Given the description of an element on the screen output the (x, y) to click on. 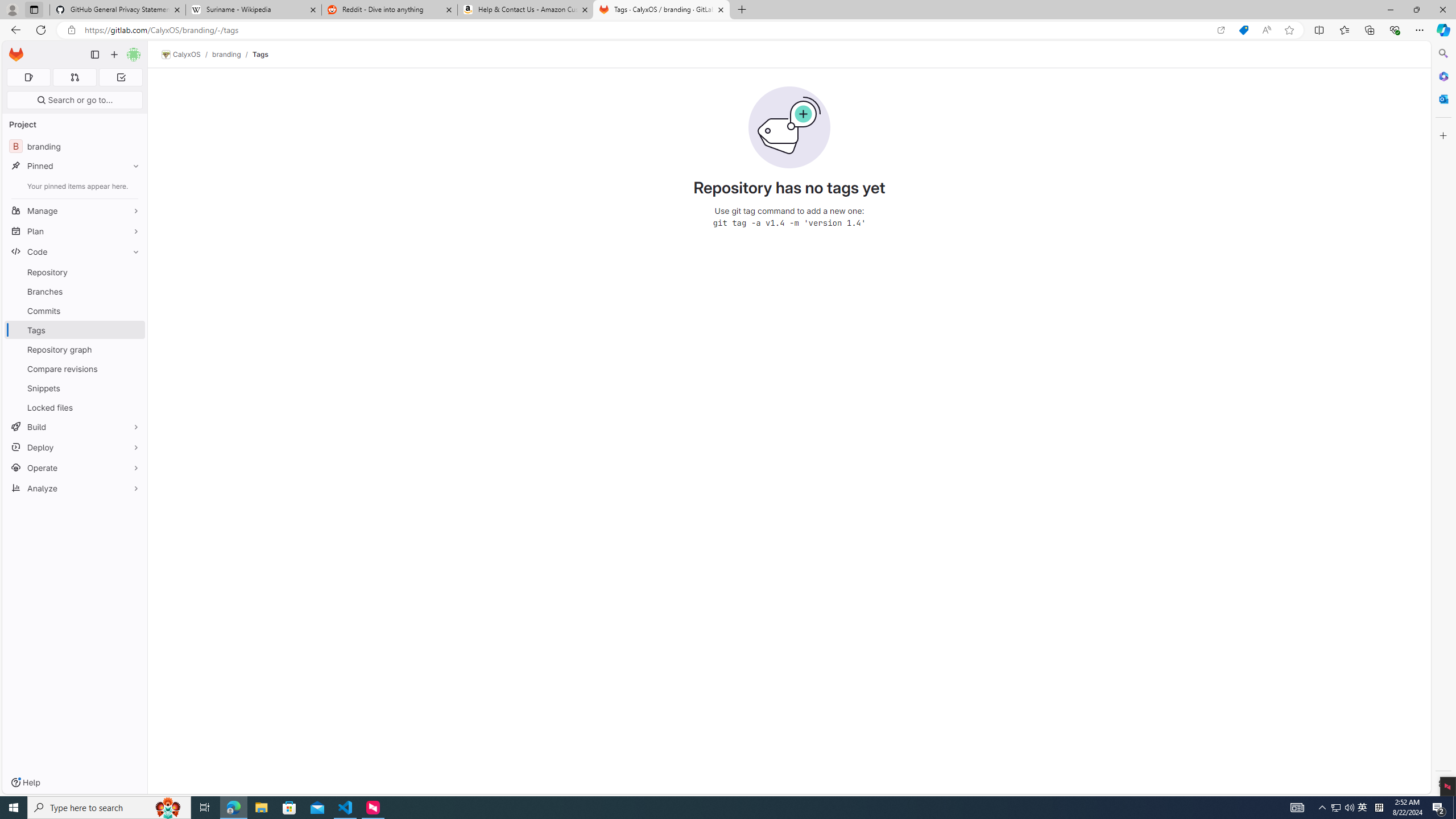
Homepage (16, 54)
Deploy (74, 447)
Pin Commits (132, 310)
Plan (74, 230)
Operate (74, 467)
Pin Snippets (132, 387)
Close Outlook pane (1442, 98)
App bar (728, 29)
Manage (74, 210)
branding (226, 53)
CalyxOS (180, 54)
